Given the description of an element on the screen output the (x, y) to click on. 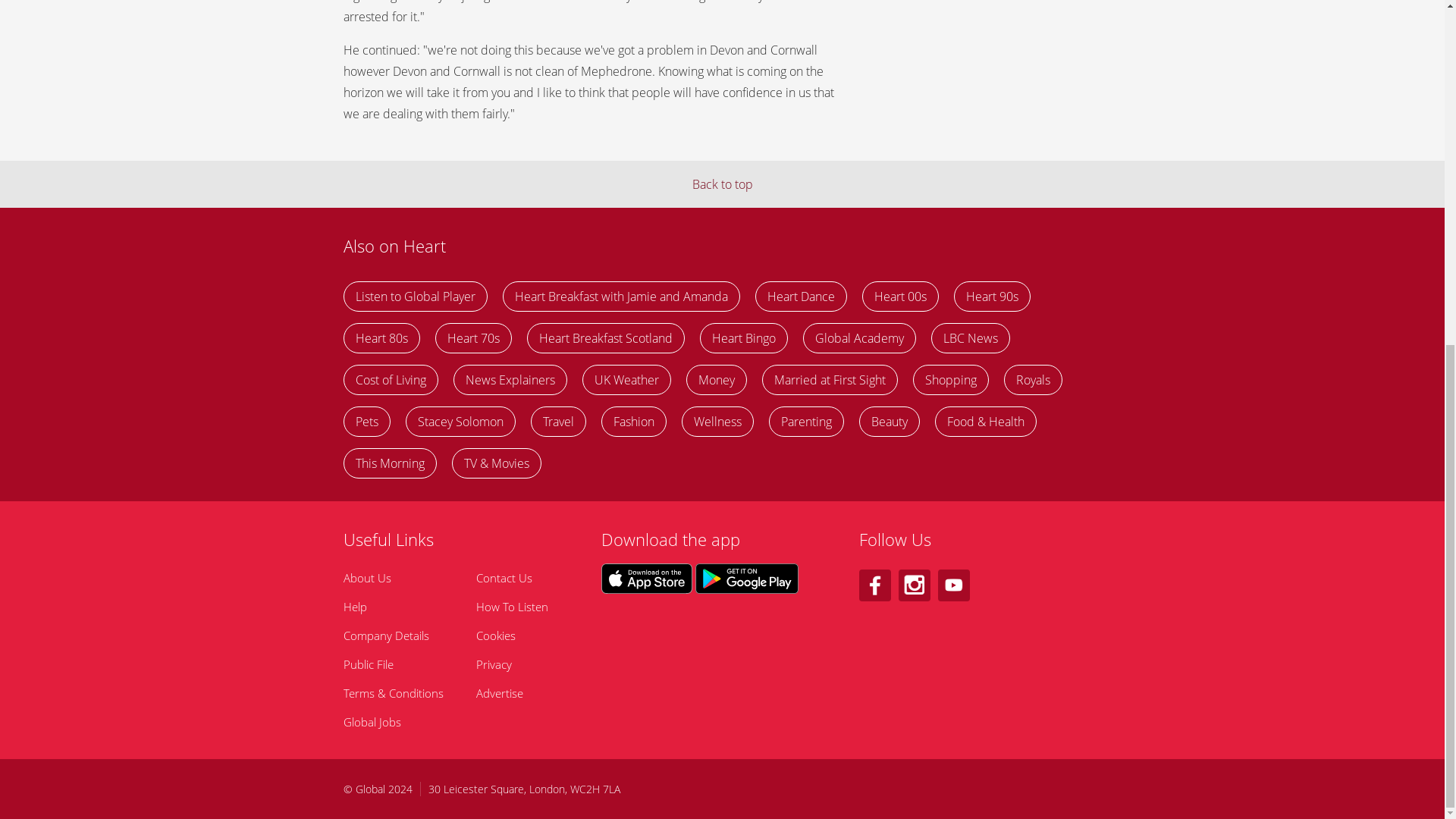
Back to top (721, 184)
Follow Heart on Youtube (953, 585)
Follow Heart on Facebook (874, 585)
Follow Heart on Instagram (914, 585)
